Given the description of an element on the screen output the (x, y) to click on. 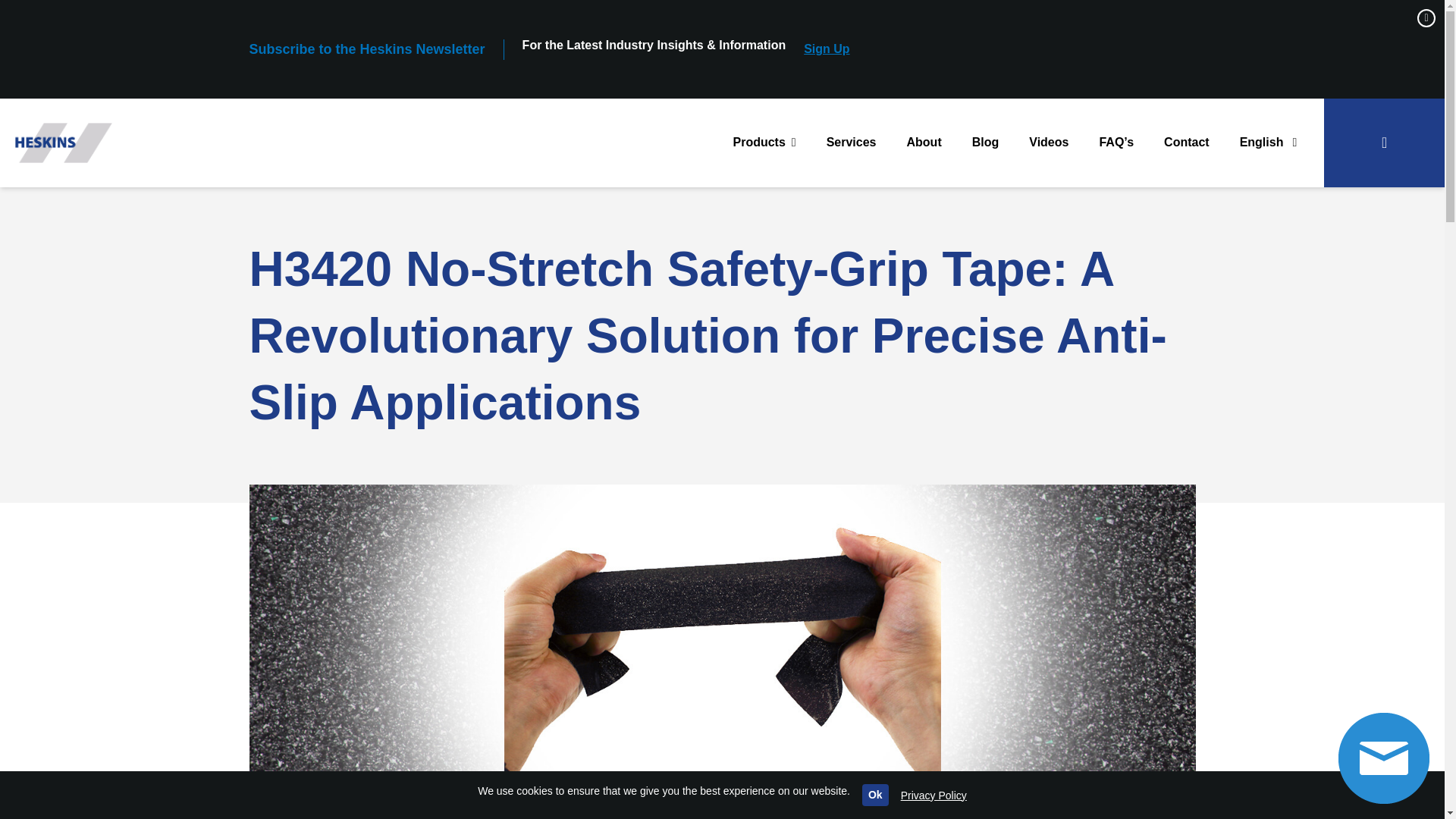
Live chat offline (1383, 757)
English (1268, 142)
Services (850, 142)
Blog (985, 142)
Contact (1186, 142)
Products (763, 142)
Sign Up (825, 48)
About (923, 142)
Videos (1048, 142)
